Given the description of an element on the screen output the (x, y) to click on. 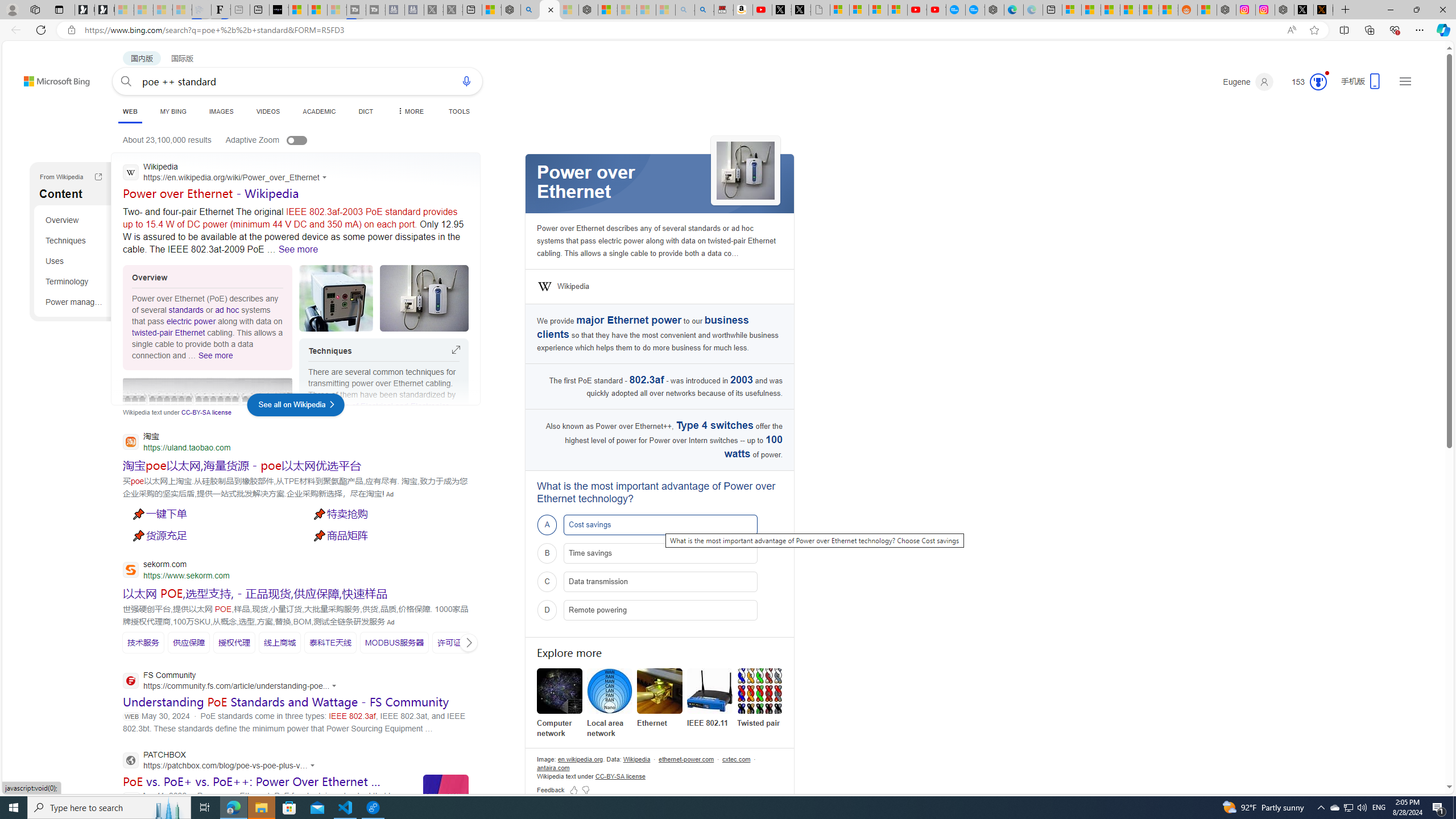
twisted-pair Ethernet (168, 332)
SERP,5932 (456, 642)
D Remote powering (660, 609)
SERP,5923 (254, 592)
Feedback Like (573, 789)
help.x.com | 524: A timeout occurred (1323, 9)
IEEE 802.11 (709, 691)
